Given the description of an element on the screen output the (x, y) to click on. 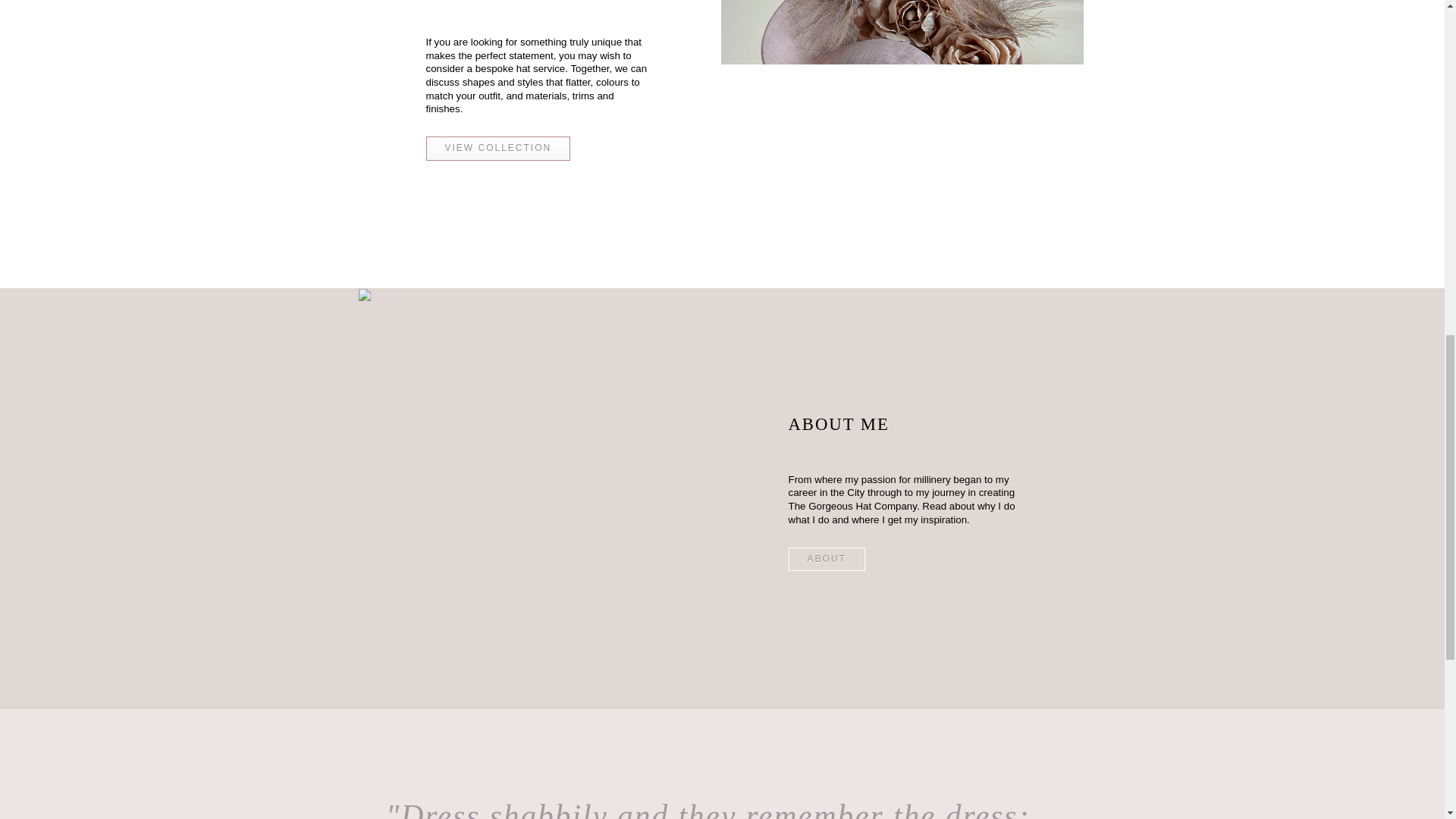
VIEW COLLECTION (498, 148)
ABOUT (826, 559)
